Given the description of an element on the screen output the (x, y) to click on. 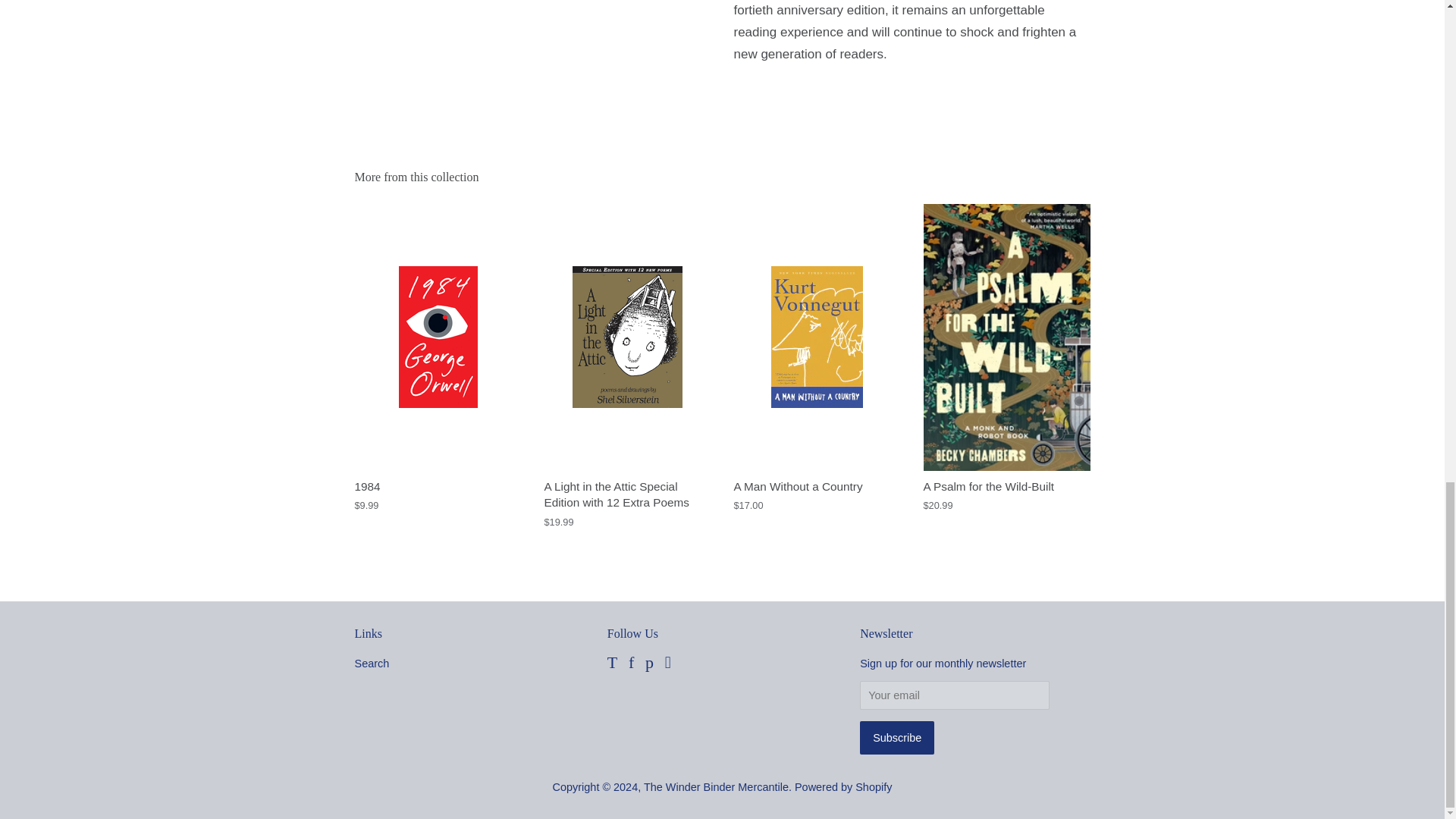
Powered by Shopify (842, 787)
Subscribe (897, 737)
Search (372, 663)
The Winder Binder Mercantile (716, 787)
Subscribe (897, 737)
